Given the description of an element on the screen output the (x, y) to click on. 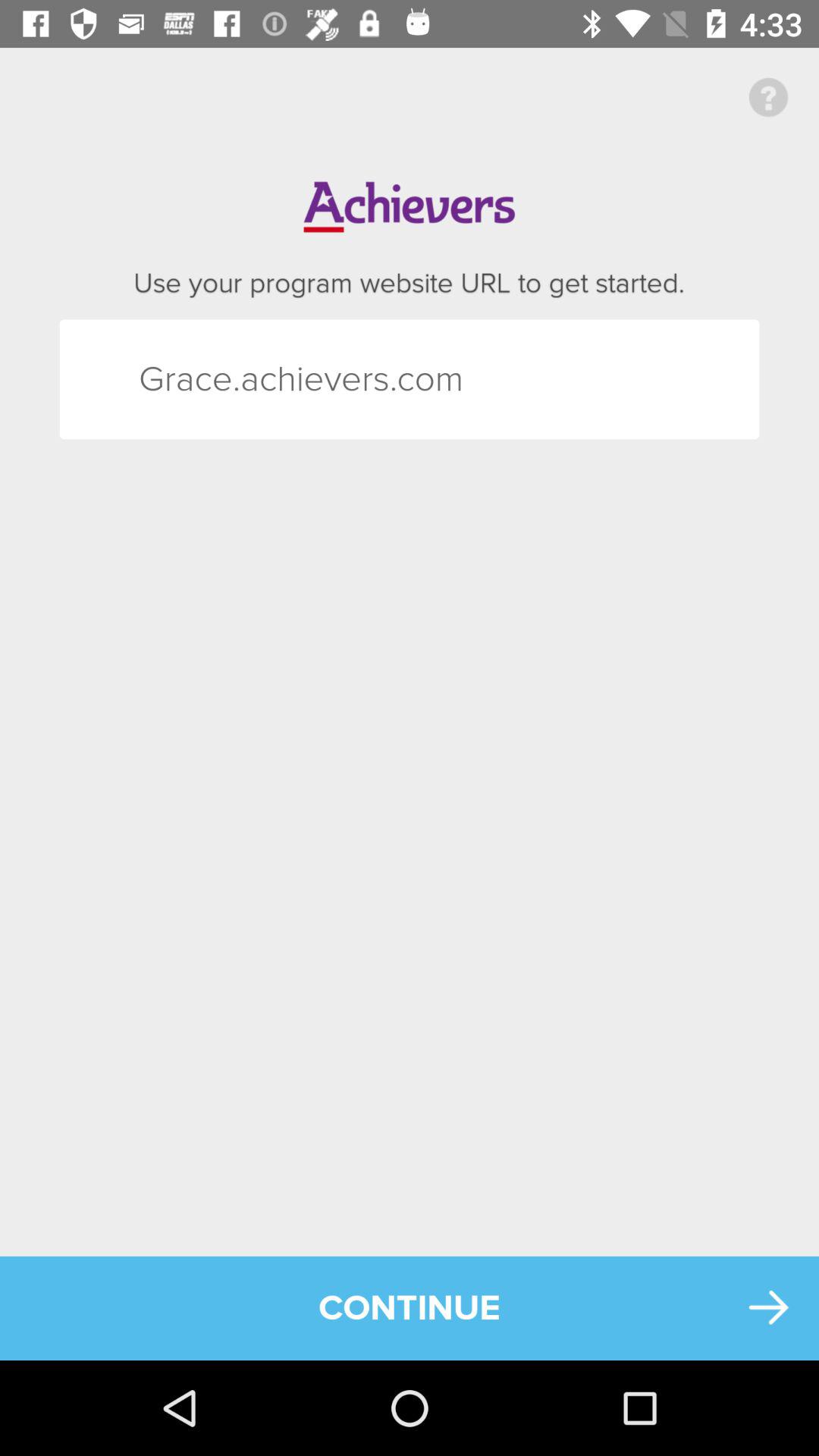
turn off the item above the continue (165, 379)
